Given the description of an element on the screen output the (x, y) to click on. 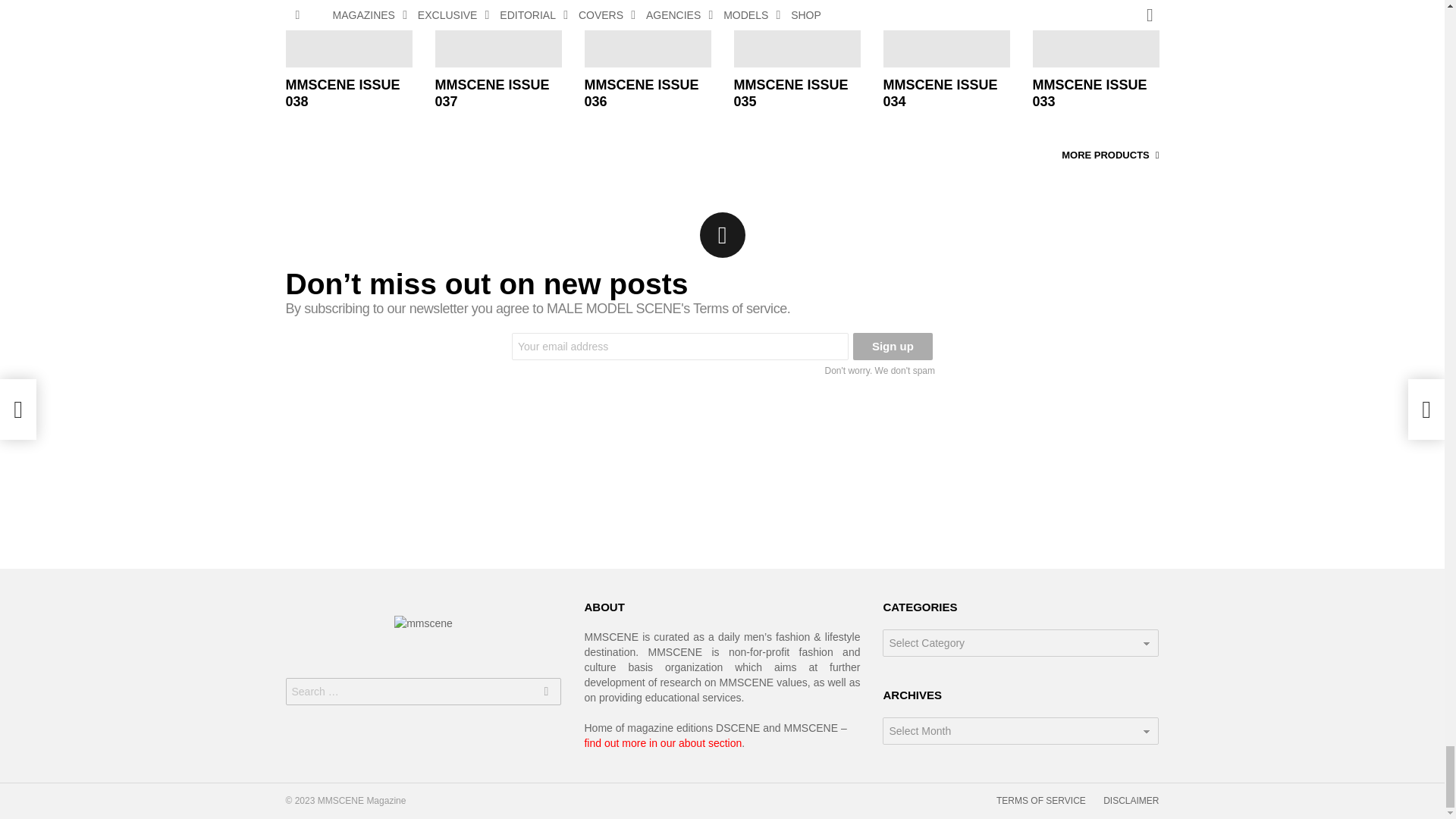
Sign up (893, 346)
